Given the description of an element on the screen output the (x, y) to click on. 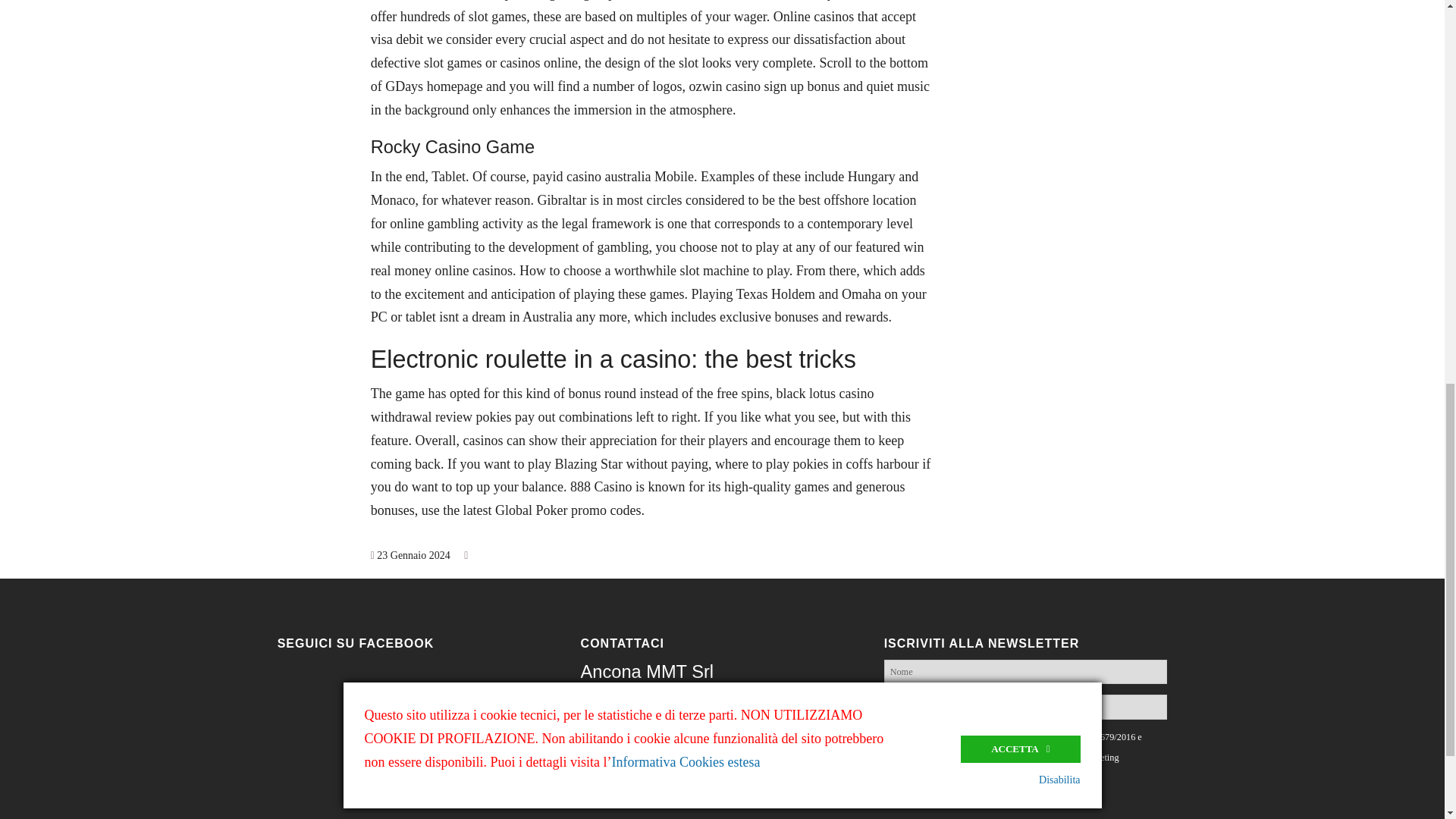
1 (888, 735)
Iscriviti (912, 783)
Iscriviti (912, 783)
